Given the description of an element on the screen output the (x, y) to click on. 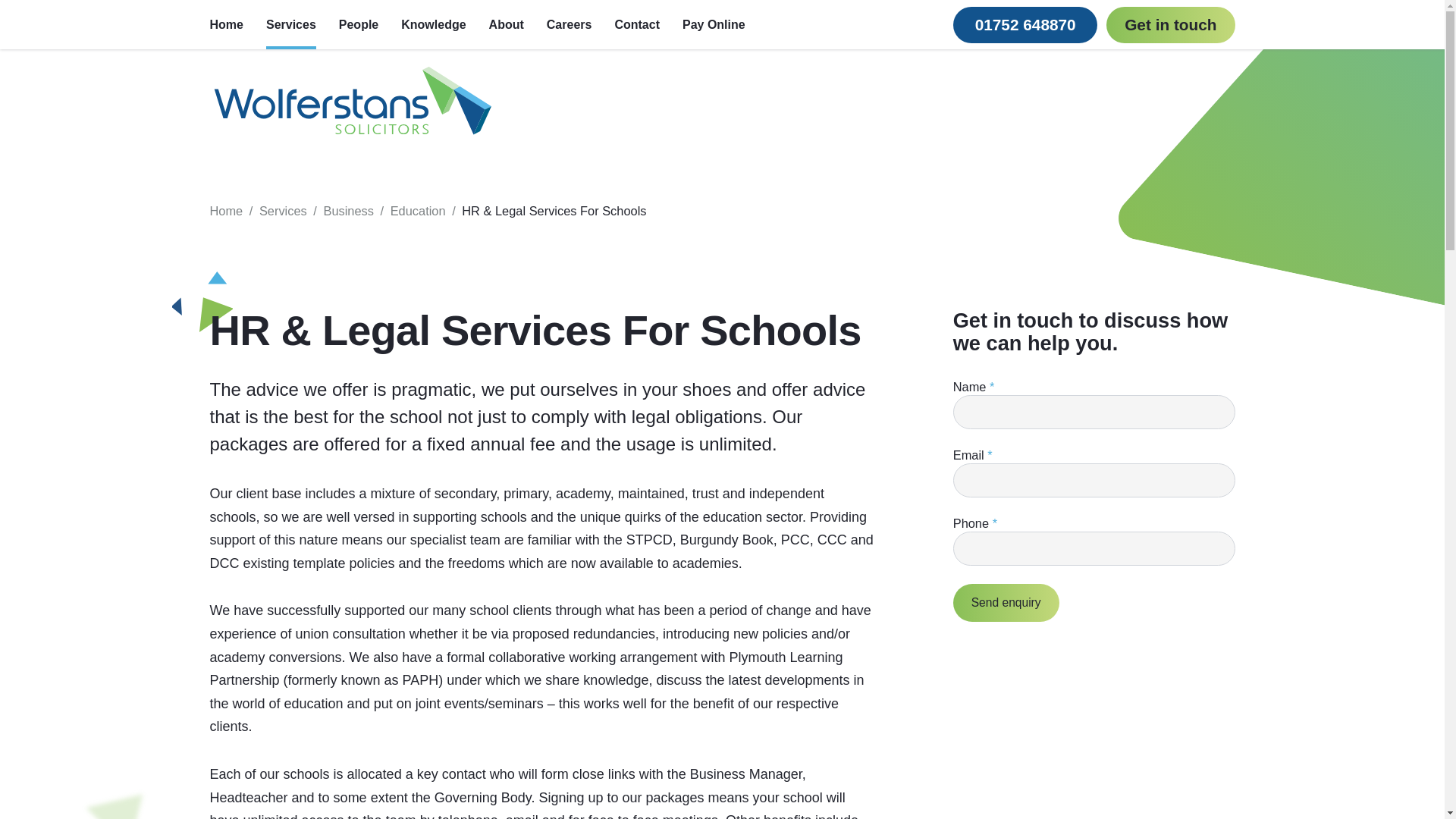
Pay Online (714, 24)
Careers (569, 24)
Go to the Wolferstans homepage (352, 102)
Knowledge (433, 24)
Contact (636, 24)
01752 648870 (1025, 23)
Business (348, 210)
People (358, 24)
Services (290, 24)
Services (283, 210)
Education (417, 210)
Get in touch (1170, 23)
Send enquiry (1006, 602)
About (506, 24)
Home (226, 210)
